Given the description of an element on the screen output the (x, y) to click on. 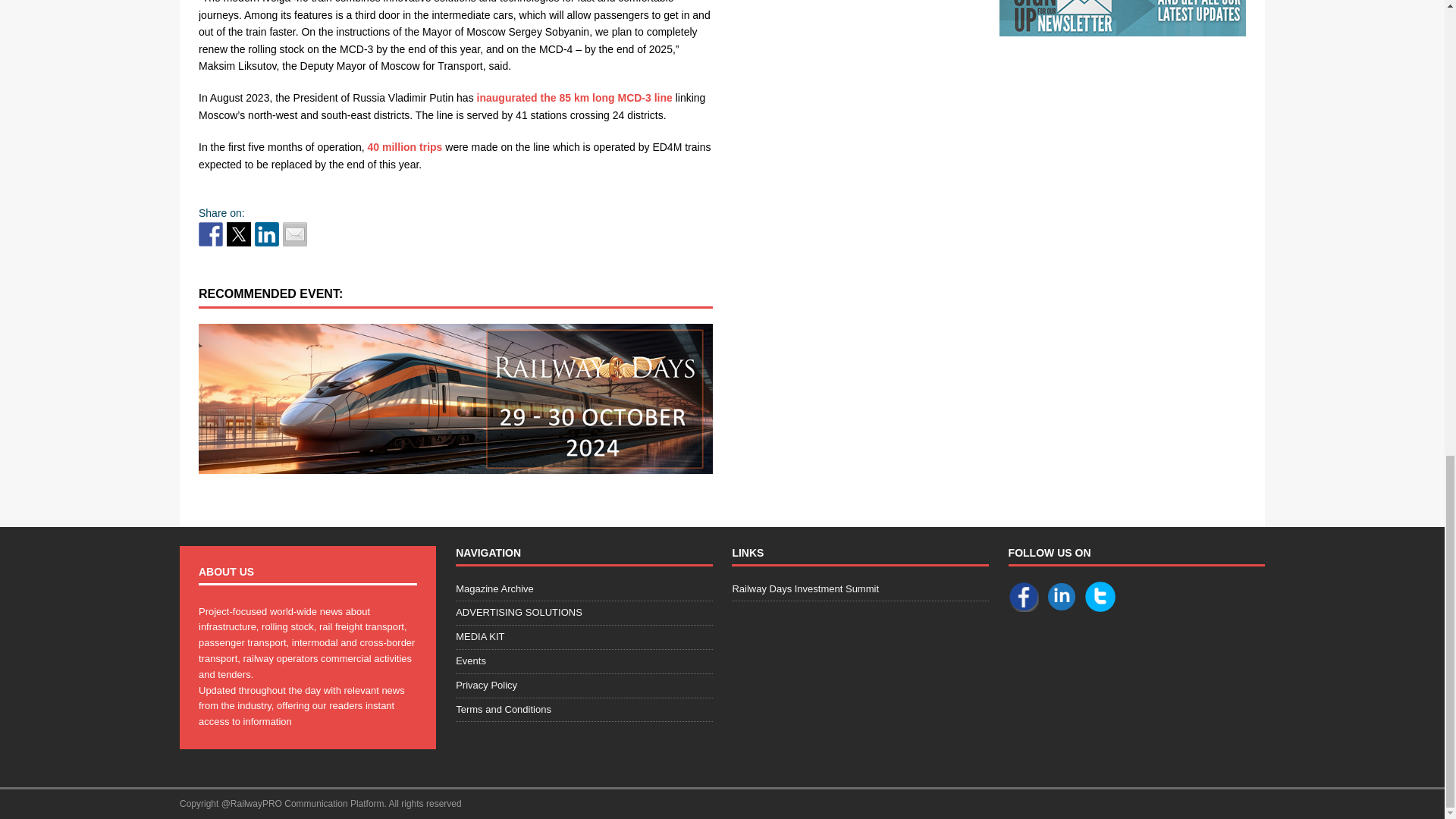
Share on Linkedin (266, 233)
Share on Twitter (238, 233)
Share on Facebook (210, 233)
Share by email (294, 233)
